Given the description of an element on the screen output the (x, y) to click on. 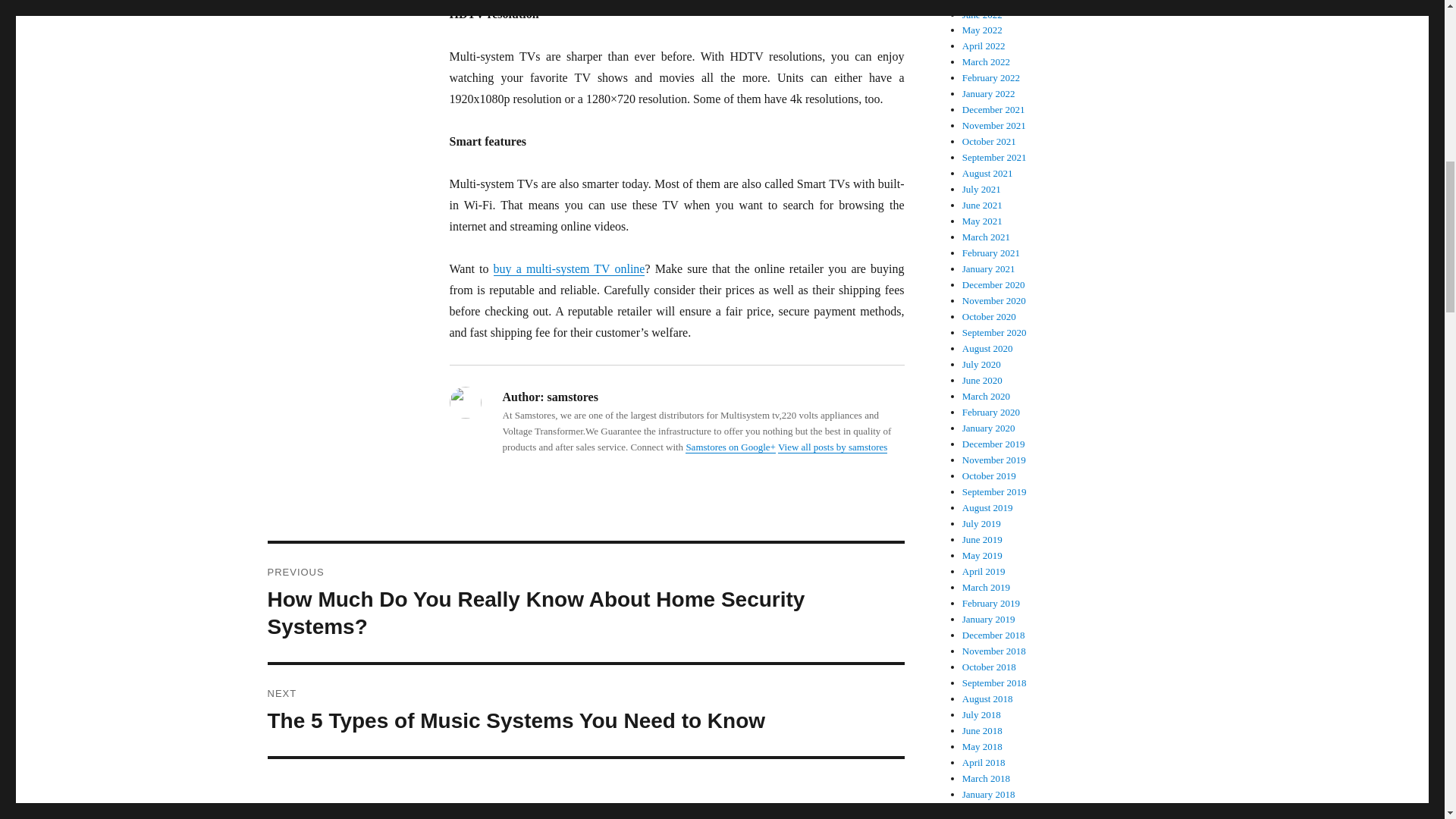
November 2021 (994, 125)
March 2022 (986, 61)
August 2021 (987, 173)
April 2022 (984, 45)
September 2021 (994, 156)
January 2022 (988, 93)
June 2022 (982, 14)
December 2021 (993, 109)
July 2022 (981, 2)
May 2022 (982, 30)
